Given the description of an element on the screen output the (x, y) to click on. 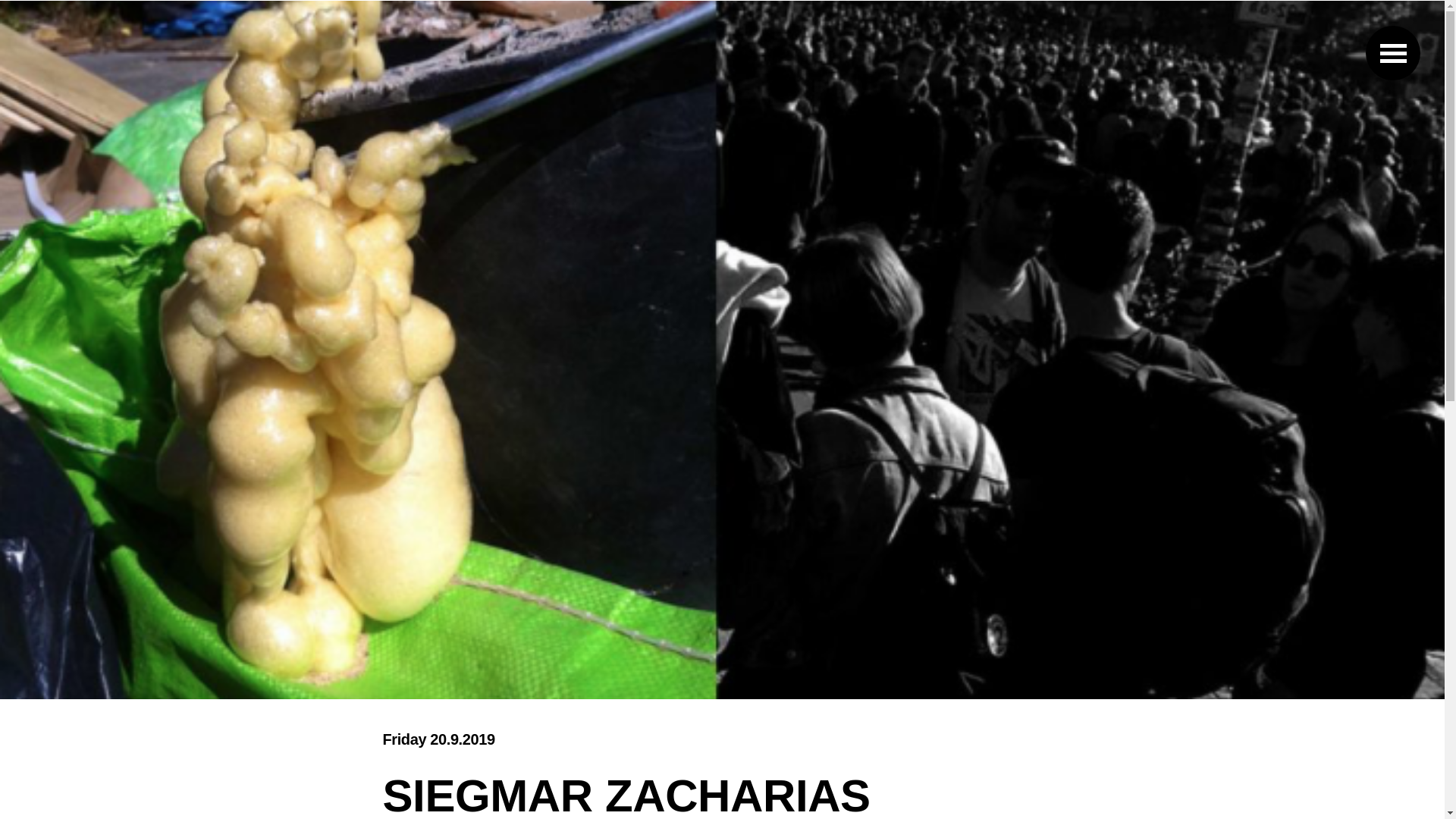
Navigation (1393, 52)
Toggle Navigation (1393, 52)
